Given the description of an element on the screen output the (x, y) to click on. 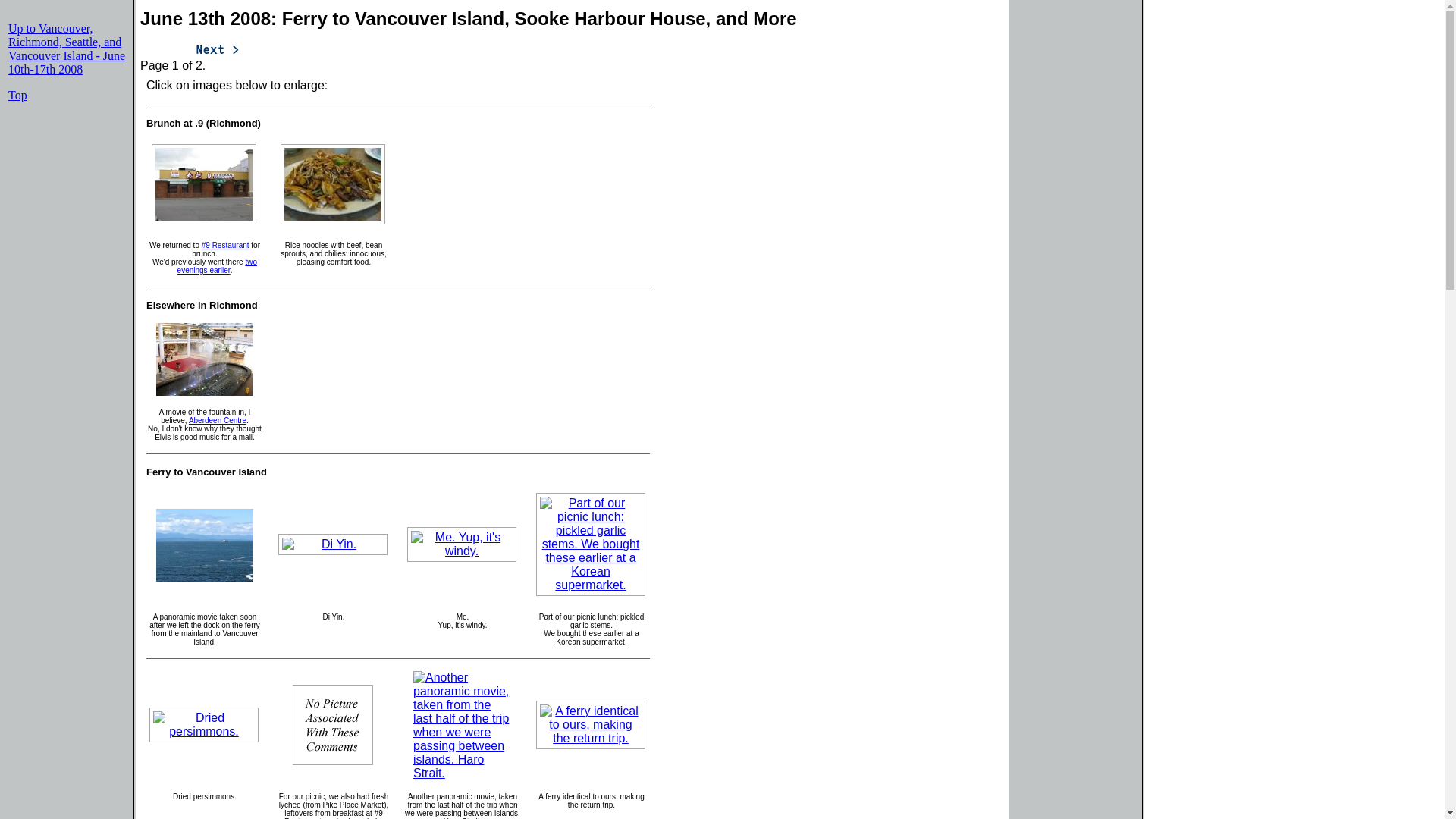
Aberdeen Centre (217, 420)
two evenings earlier (217, 265)
Top (17, 94)
